Given the description of an element on the screen output the (x, y) to click on. 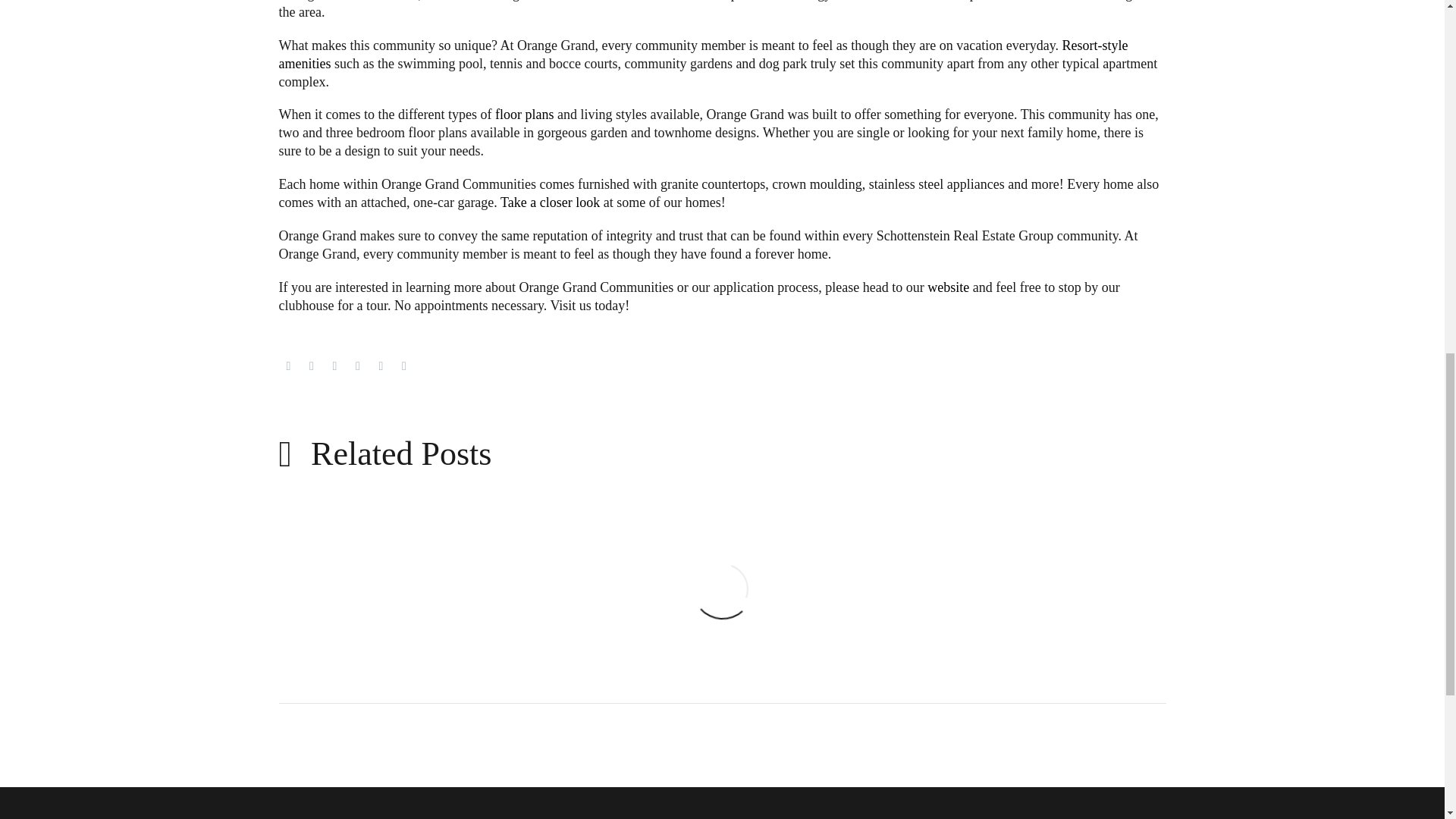
Twitter (311, 366)
website (948, 287)
floor plans (526, 114)
Pinterest (334, 366)
Resort-style amenities (703, 54)
Facebook (288, 366)
LinkedIn (380, 366)
Tumblr (358, 366)
Reddit (403, 366)
Take a closer look (549, 201)
